Given the description of an element on the screen output the (x, y) to click on. 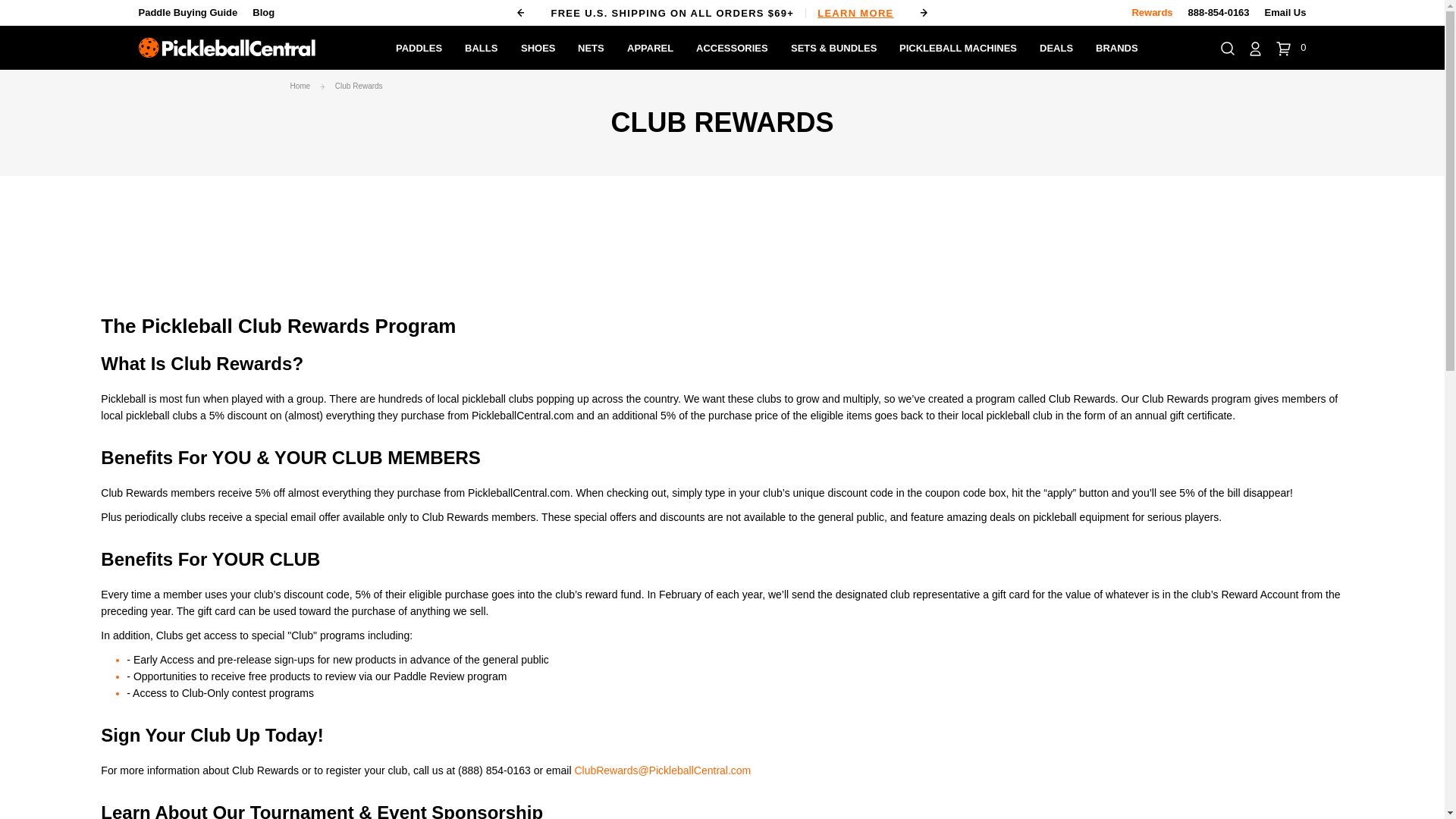
PADDLES (419, 47)
Email Us (1285, 12)
888-854-0163 (1218, 12)
LEARN MORE (849, 12)
Blog (263, 12)
Rewards (1151, 12)
Paddle Buying Guide (187, 12)
PickleballCentral.com (226, 47)
